Given the description of an element on the screen output the (x, y) to click on. 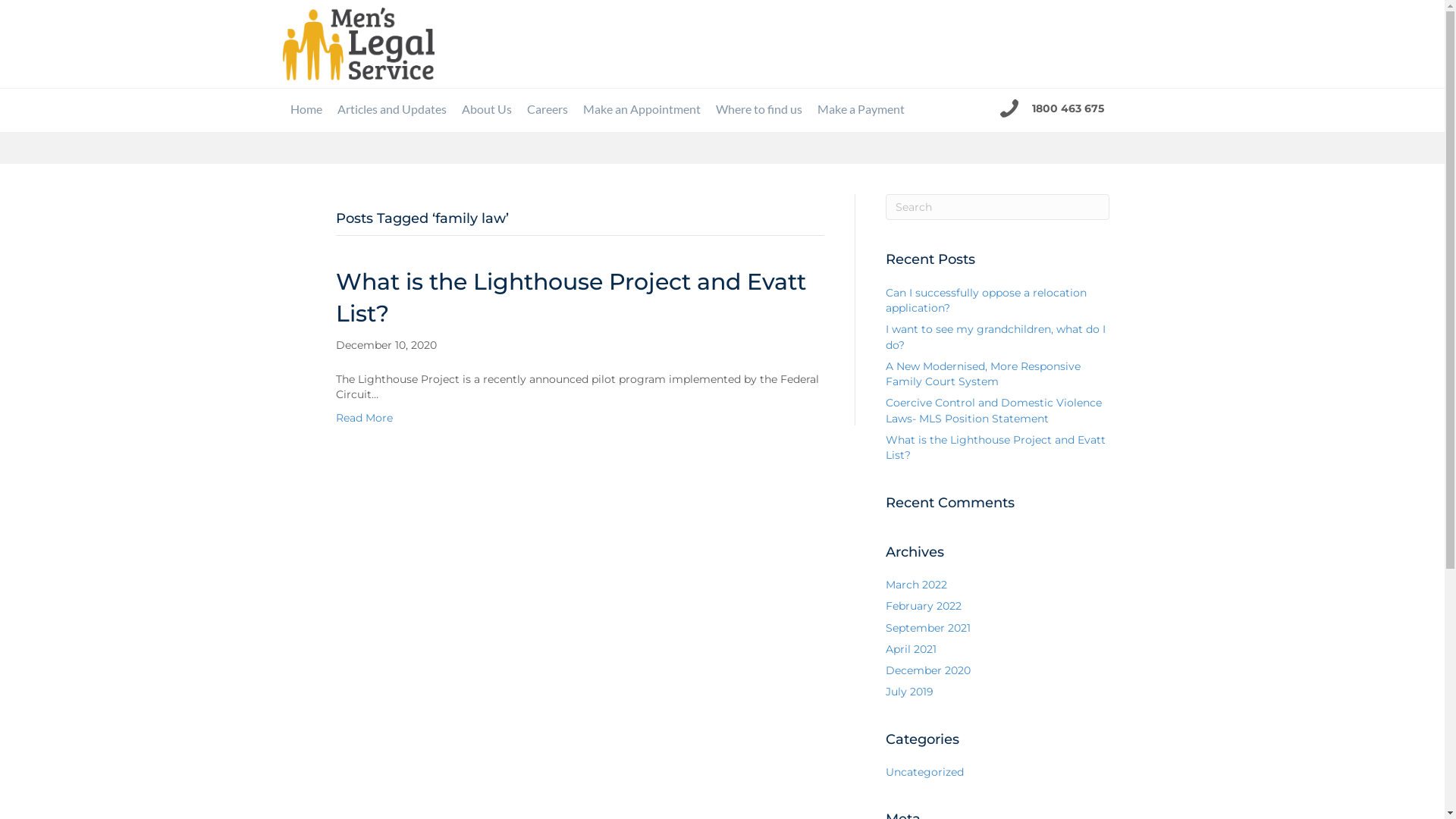
I want to see my grandchildren, what do I do? Element type: text (995, 336)
September 2021 Element type: text (927, 627)
Type and press Enter to search. Element type: hover (997, 206)
April 2021 Element type: text (910, 648)
December 2020 Element type: text (927, 670)
What is the Lighthouse Project and Evatt List? Element type: text (570, 297)
Careers Element type: text (546, 108)
Articles and Updates Element type: text (391, 108)
Can I successfully oppose a relocation application? Element type: text (985, 299)
A New Modernised, More Responsive Family Court System Element type: text (982, 373)
Home Element type: text (305, 108)
February 2022 Element type: text (923, 605)
Where to find us Element type: text (758, 108)
March 2022 Element type: text (916, 584)
Make a Payment Element type: text (860, 108)
MLS_colourlogo Element type: hover (357, 43)
July 2019 Element type: text (909, 691)
Read More Element type: text (363, 417)
Uncategorized Element type: text (924, 771)
1800 463 675 Element type: text (1068, 108)
About Us Element type: text (485, 108)
What is the Lighthouse Project and Evatt List? Element type: text (995, 447)
Make an Appointment Element type: text (640, 108)
